Given the description of an element on the screen output the (x, y) to click on. 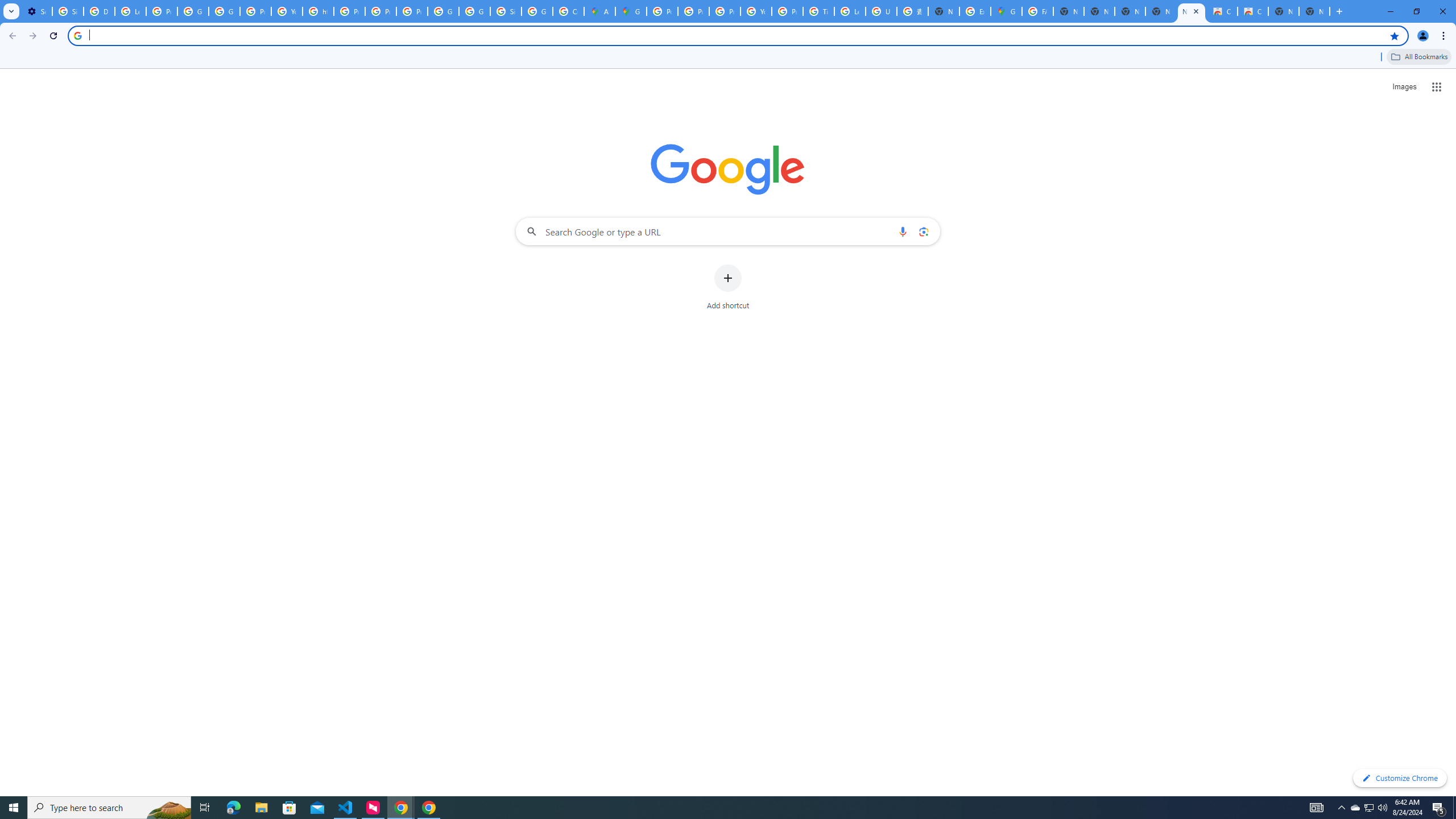
Classic Blue - Chrome Web Store (1222, 11)
Privacy Help Center - Policies Help (724, 11)
Policy Accountability and Transparency - Transparency Center (662, 11)
Classic Blue - Chrome Web Store (1252, 11)
Create your Google Account (568, 11)
New Tab (943, 11)
YouTube (286, 11)
